Given the description of an element on the screen output the (x, y) to click on. 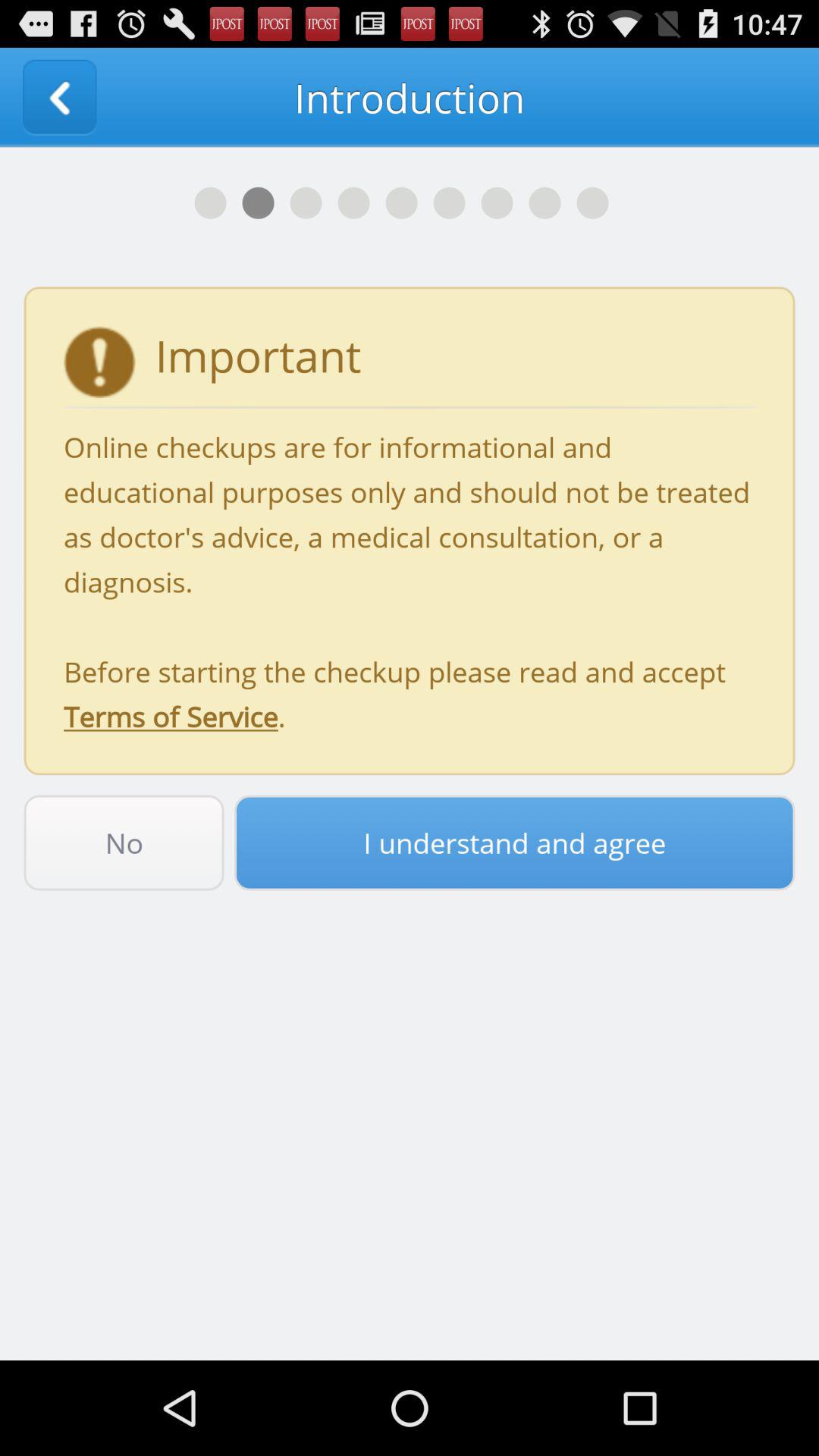
open the icon next to the i understand and icon (123, 842)
